Given the description of an element on the screen output the (x, y) to click on. 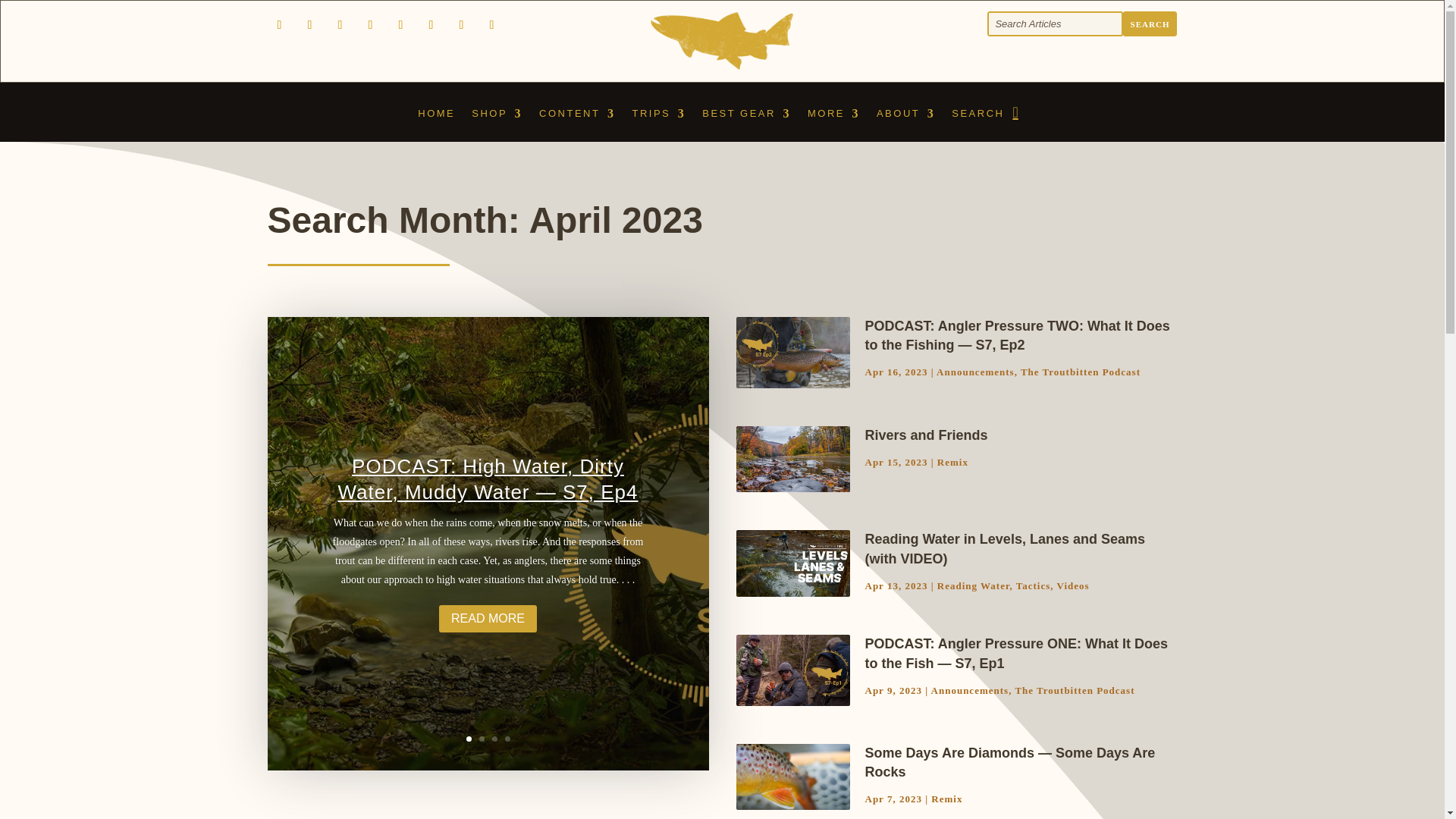
Follow on X (369, 24)
Search (1149, 23)
Follow on Facebook (339, 24)
Troutbitten Trout Gold Distressed (721, 39)
SHOP (496, 124)
Follow on LinkedIn (430, 24)
Follow on Instagram (278, 24)
Follow on RSS (491, 24)
Follow on Spotify (400, 24)
Follow on iTunes (460, 24)
TRIPS (658, 124)
Search (1149, 23)
CONTENT (576, 124)
HOME (435, 124)
Follow on Youtube (309, 24)
